Given the description of an element on the screen output the (x, y) to click on. 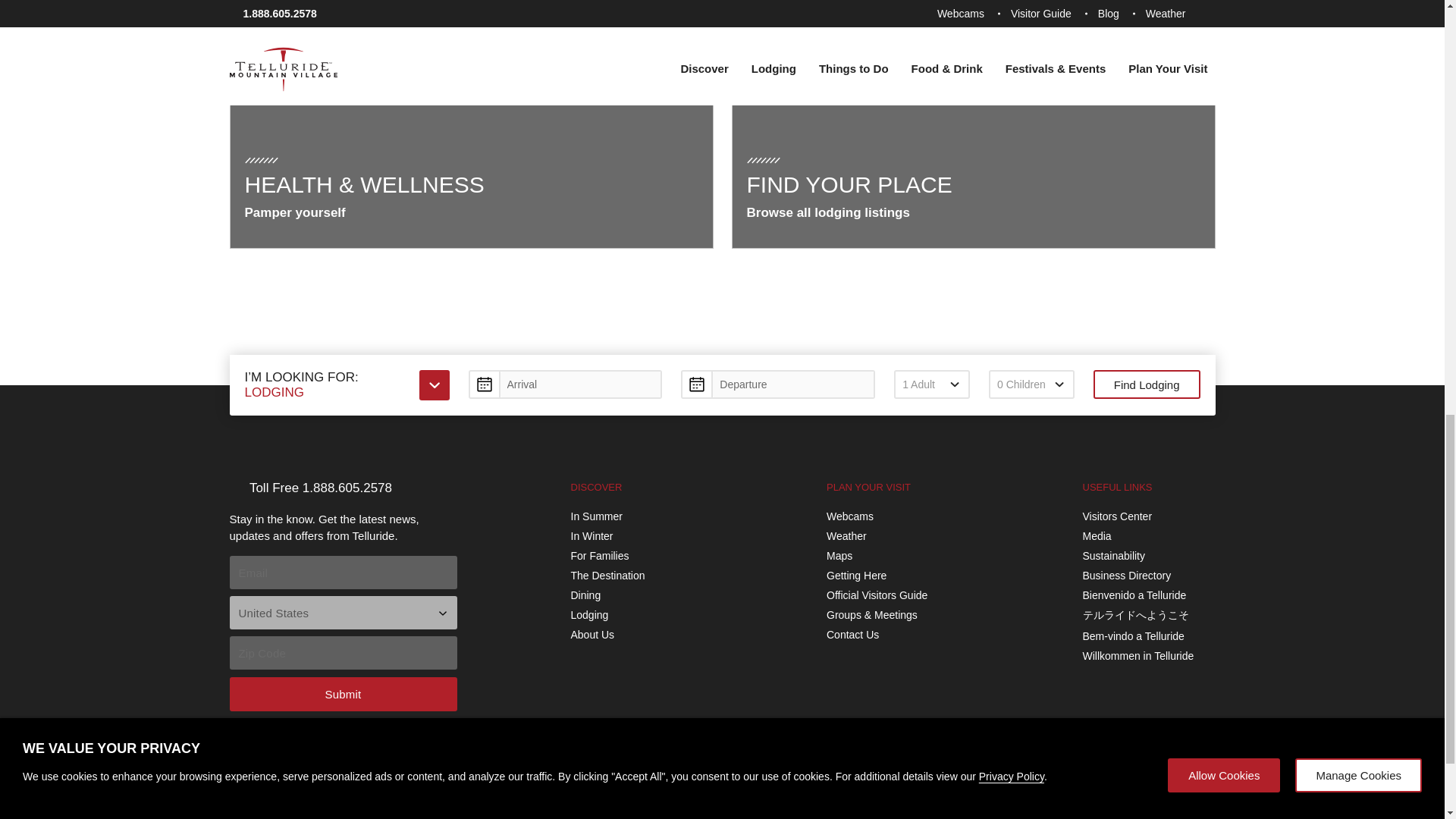
Adults (931, 384)
Children (1031, 384)
Find Lodging (1146, 384)
Adults (931, 384)
Departure Date (778, 384)
Children (1031, 384)
Arrival Date (565, 384)
